Given the description of an element on the screen output the (x, y) to click on. 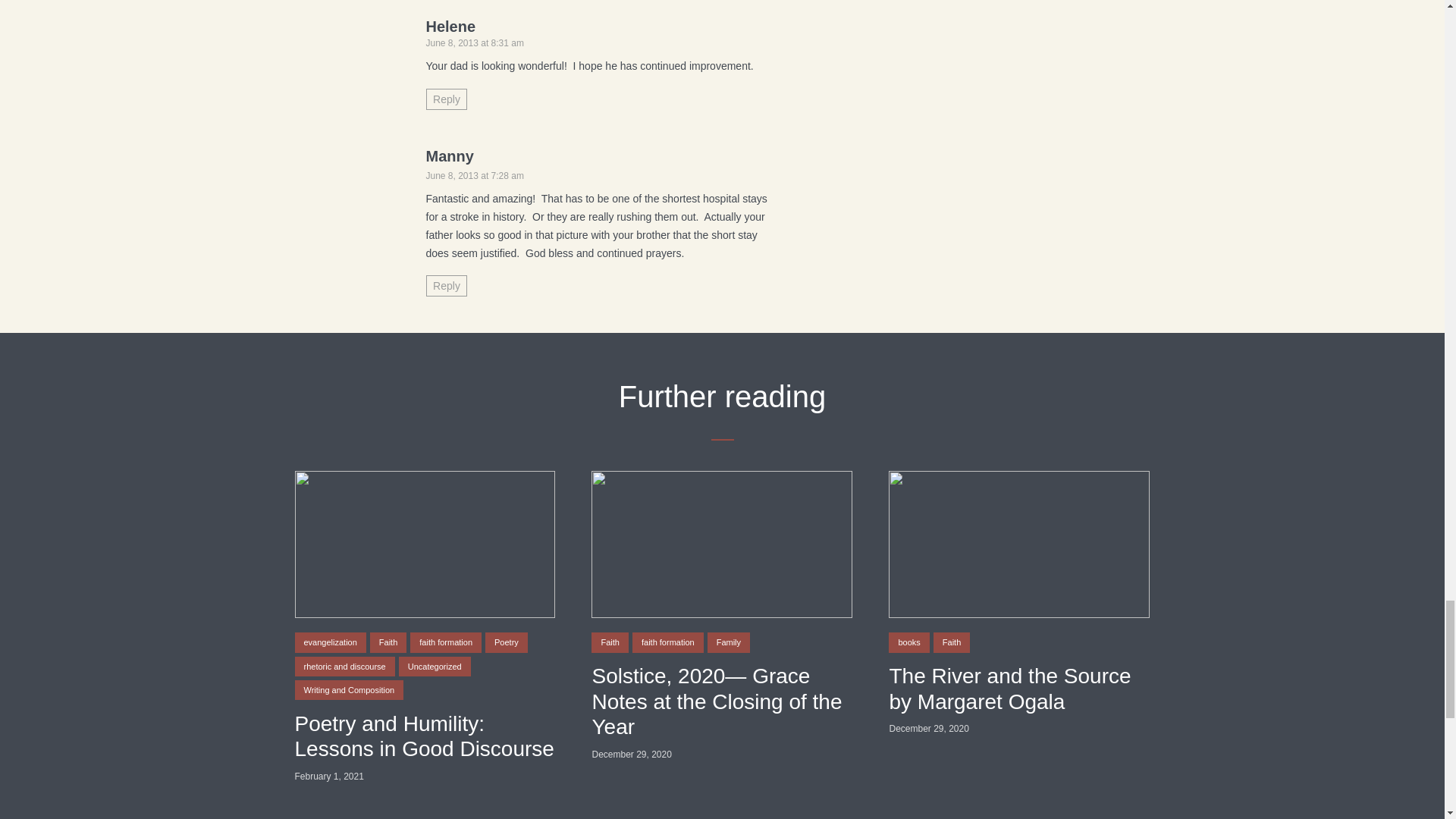
Reply (446, 285)
June 8, 2013 at 8:31 am (475, 42)
Reply (446, 98)
June 8, 2013 at 7:28 am (475, 175)
Manny (450, 156)
